Given the description of an element on the screen output the (x, y) to click on. 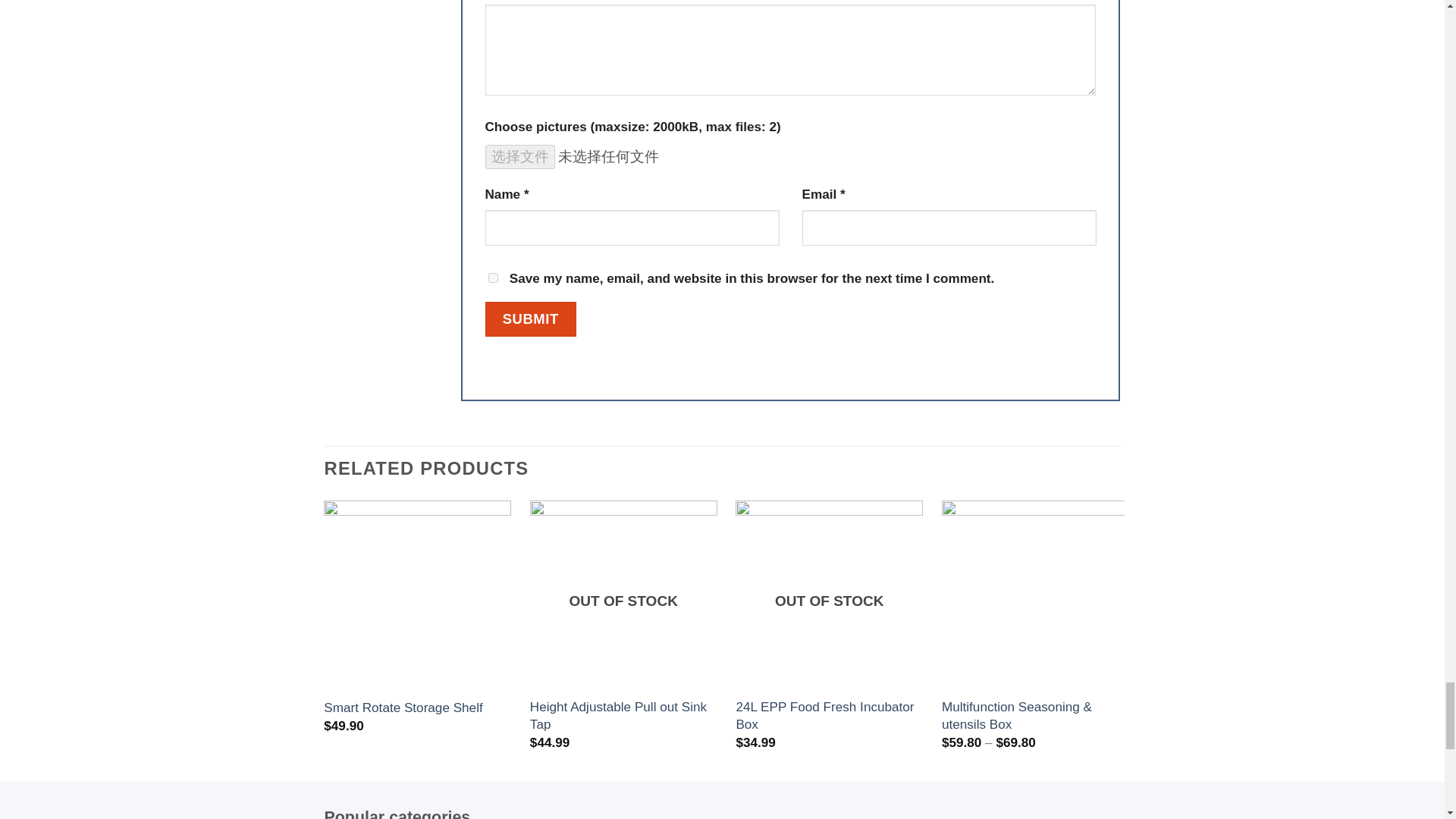
Submit (530, 319)
yes (492, 277)
